Given the description of an element on the screen output the (x, y) to click on. 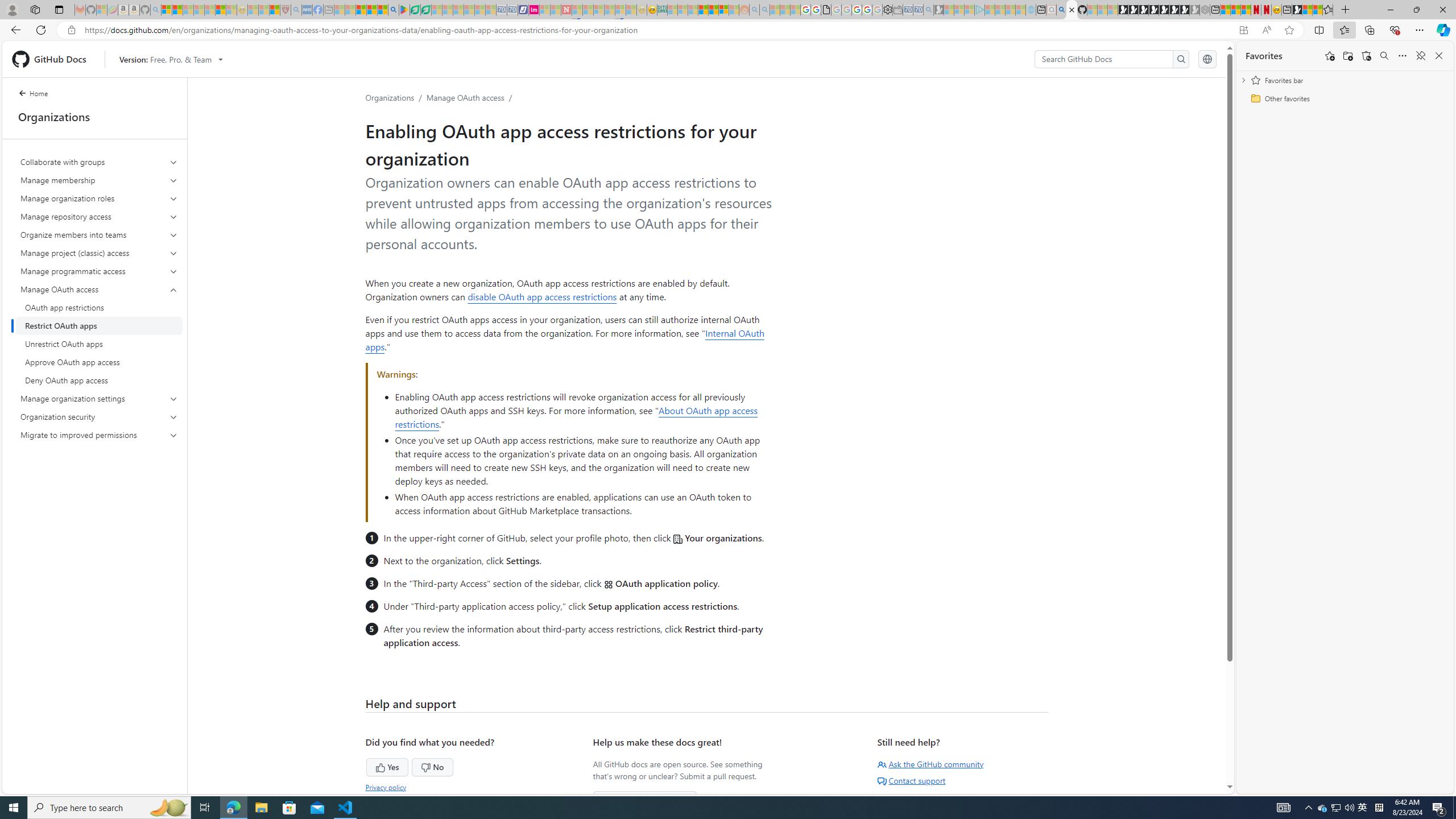
github - Search (1061, 9)
Microsoft Word - consumer-privacy address update 2.2021 (426, 9)
Manage OAuth access (464, 97)
Wildlife - MSN (1307, 9)
Add folder (1347, 55)
Latest Politics News & Archive | Newsweek.com - Sleeping (566, 9)
Select language: current language is English (1207, 58)
